Given the description of an element on the screen output the (x, y) to click on. 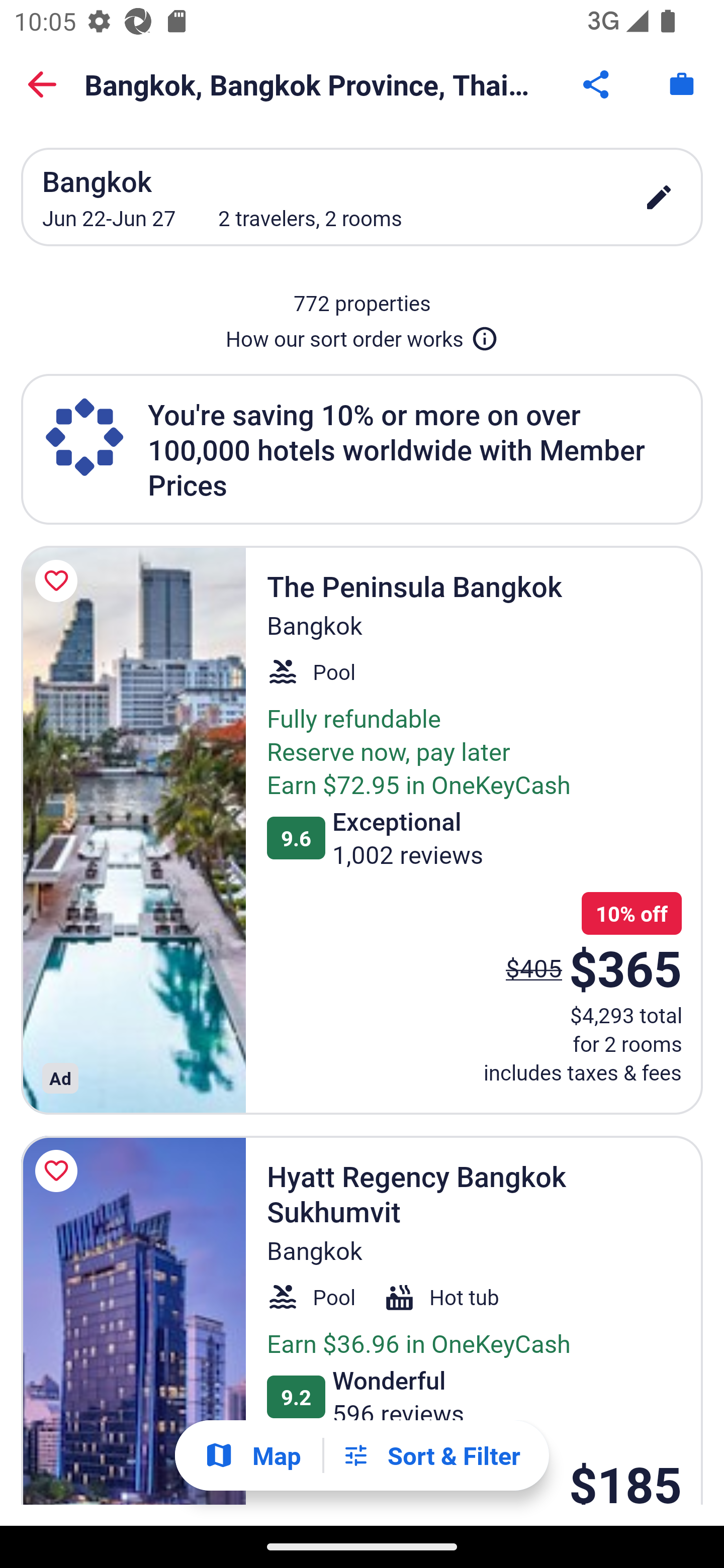
Back (42, 84)
Share Button (597, 84)
Trips. Button (681, 84)
Bangkok Jun 22-Jun 27 2 travelers, 2 rooms edit (361, 196)
How our sort order works (361, 334)
Save The Peninsula Bangkok to a trip (59, 580)
The Peninsula Bangkok (133, 829)
$405 The price was $405 (533, 967)
Save Hyatt Regency Bangkok Sukhumvit to a trip (59, 1170)
Hyatt Regency Bangkok Sukhumvit (133, 1320)
Filters Sort & Filter Filters Button (430, 1455)
Show map Map Show map Button (252, 1455)
